Given the description of an element on the screen output the (x, y) to click on. 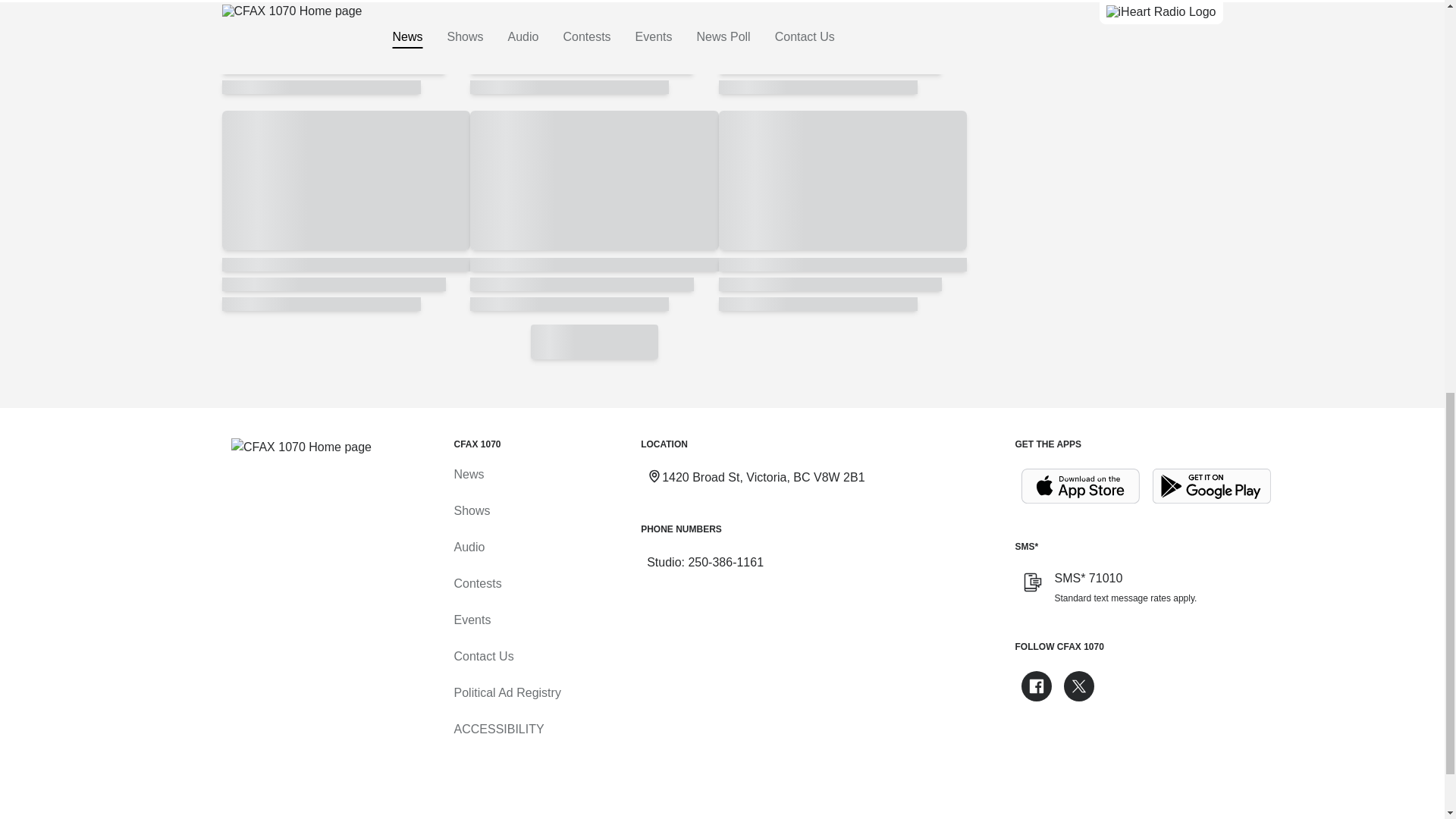
ACCESSIBILITY (497, 729)
Audio (468, 546)
Contests (476, 583)
News (467, 473)
Download on the App Store (1080, 486)
Political Ad Registry (506, 692)
Get it on Google Play (1212, 486)
Shows (470, 510)
Events (471, 619)
Contact Us (482, 656)
250-386-1161 (724, 562)
Accessibility (497, 729)
